Given the description of an element on the screen output the (x, y) to click on. 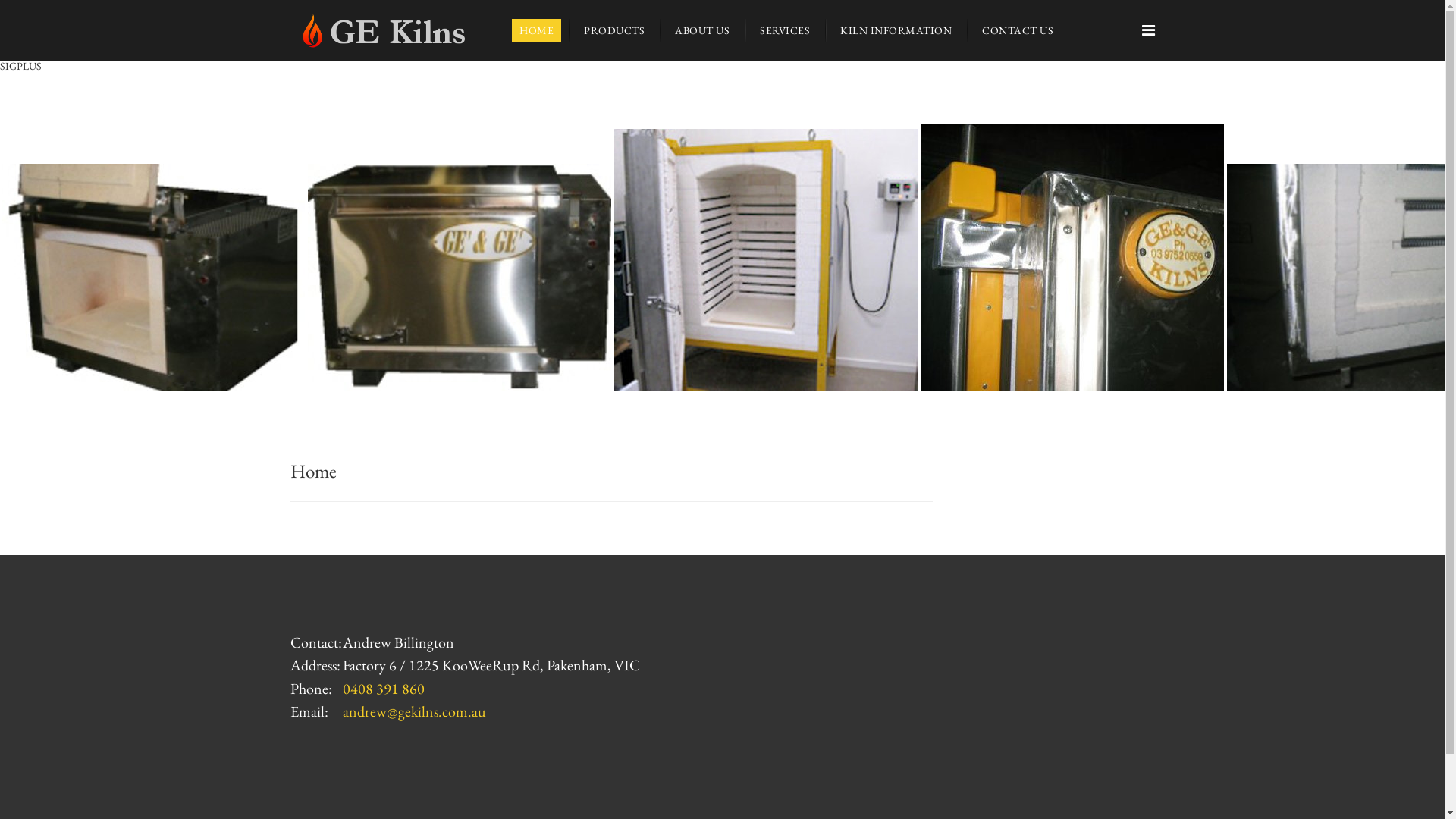
Next Element type: hover (1422, 239)
PRODUCTS Element type: text (614, 29)
HOME Element type: text (536, 29)
ABOUT US Element type: text (702, 29)
CONTACT US Element type: text (1017, 29)
SERVICES Element type: text (784, 29)
Previous Element type: hover (21, 239)
andrew@gekilns.com.au Element type: text (414, 711)
0408 391 860 Element type: text (383, 688)
KILN INFORMATION Element type: text (895, 29)
